Given the description of an element on the screen output the (x, y) to click on. 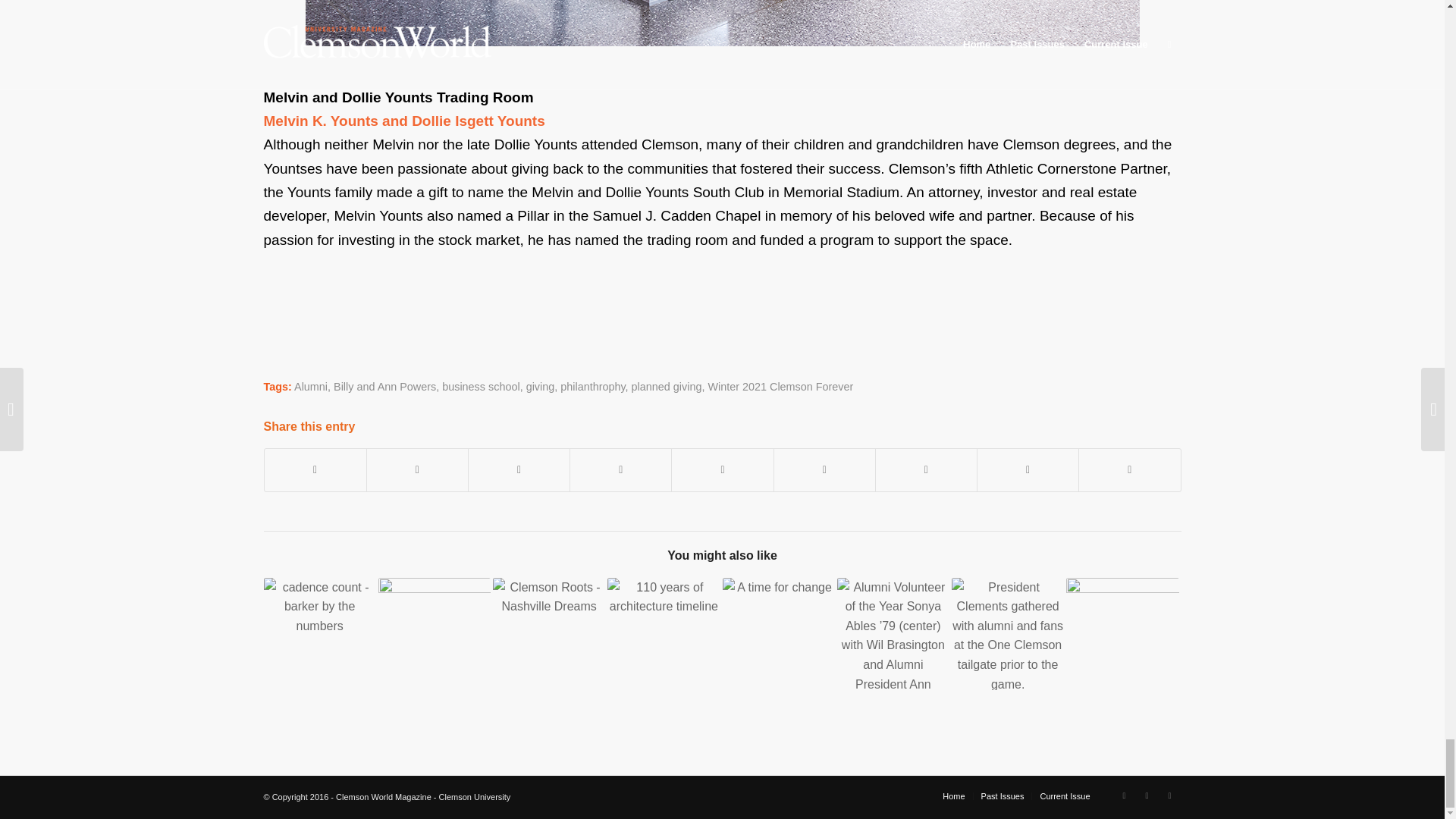
planned giving (666, 386)
Alumni (310, 386)
Younts Trading Room (721, 22)
business school (480, 386)
Billy and Ann Powers (384, 386)
giving (539, 386)
philanthrophy (592, 386)
Winter 2021 Clemson Forever (780, 386)
